Given the description of an element on the screen output the (x, y) to click on. 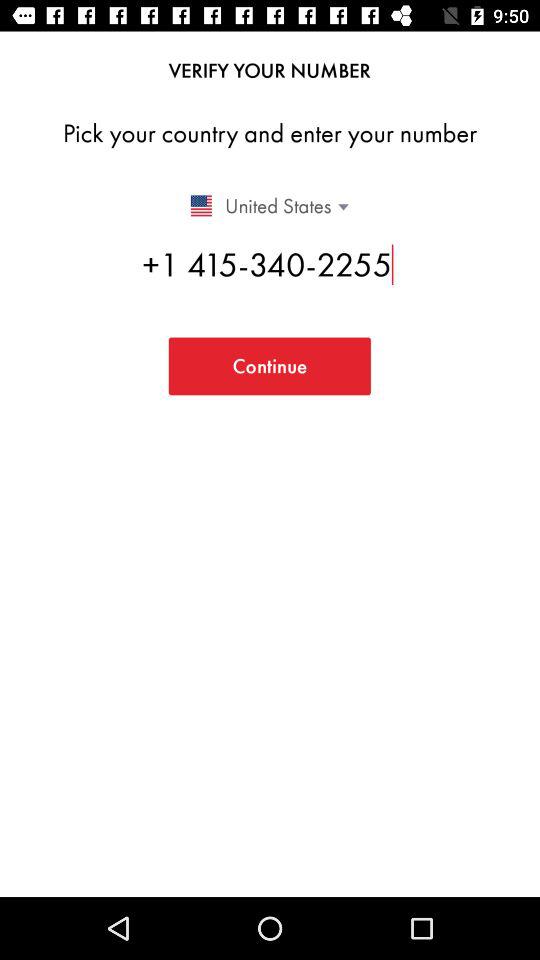
swipe to 1 415 340 (269, 264)
